Given the description of an element on the screen output the (x, y) to click on. 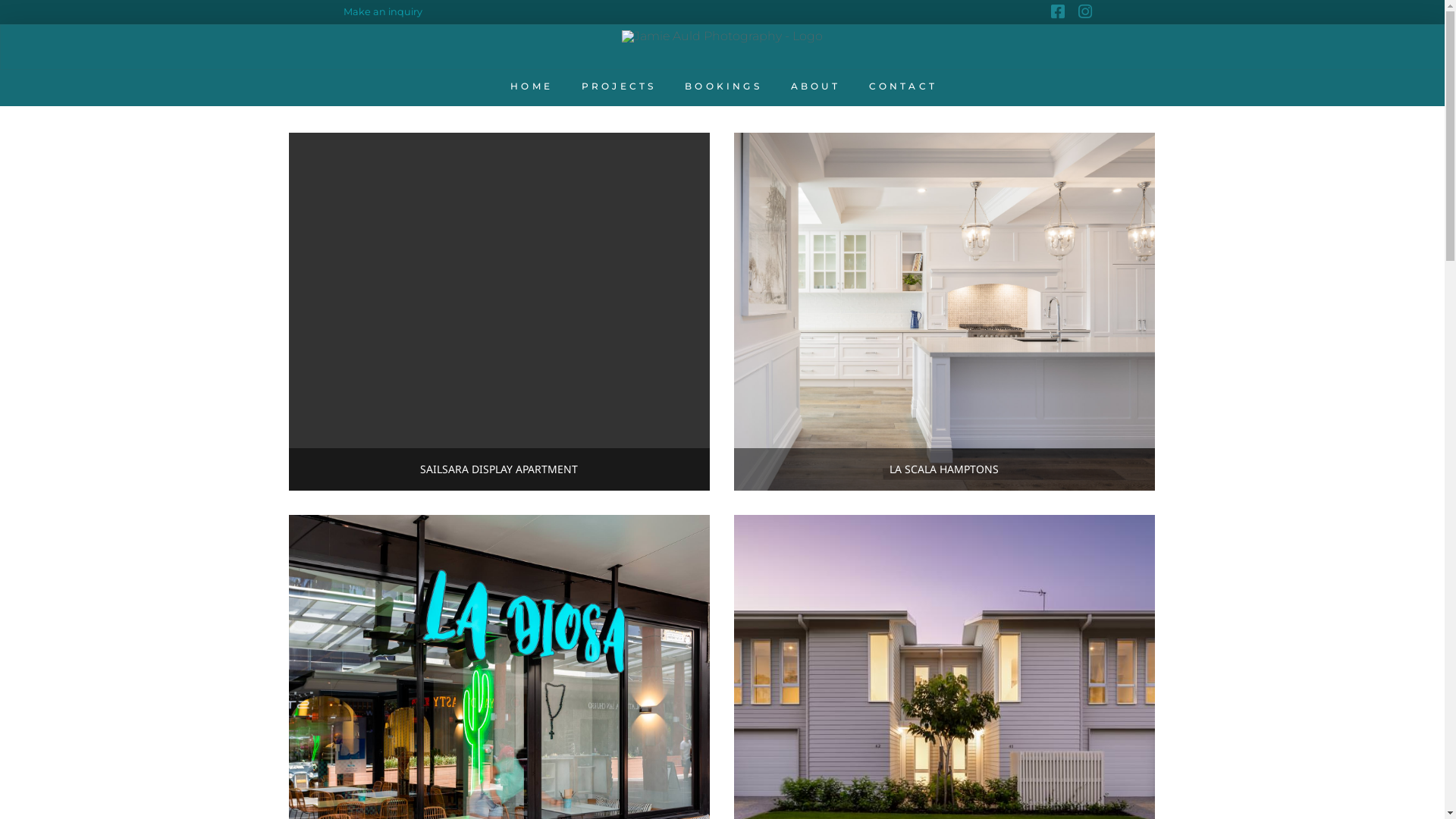
SAILSARA DISPLAY APARTMENT Element type: text (498, 311)
ABOUT Element type: text (814, 87)
BOOKINGS Element type: text (721, 87)
Make an inquiry Element type: text (381, 11)
CONTACT Element type: text (901, 87)
LA SCALA HAMPTONS Element type: text (944, 311)
HOME Element type: text (529, 87)
PROJECTS Element type: text (616, 87)
